Given the description of an element on the screen output the (x, y) to click on. 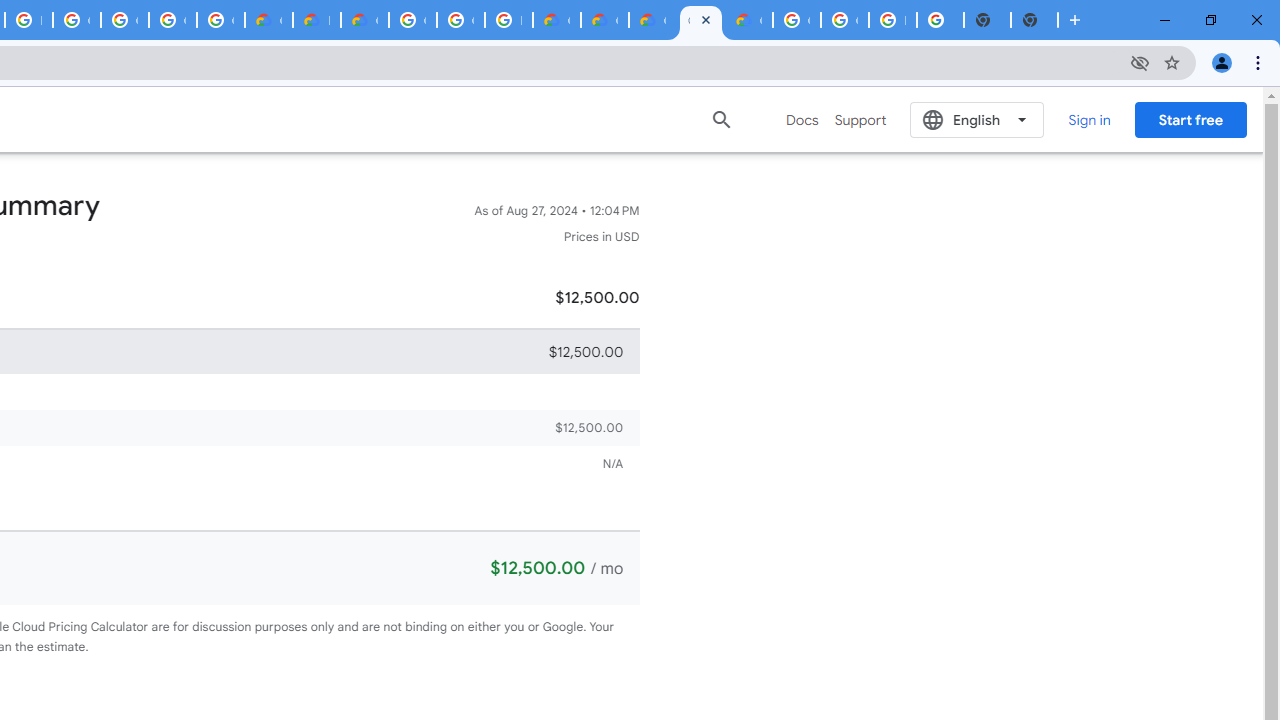
Google Workspace - Specific Terms (220, 20)
Google Cloud Platform (796, 20)
Customer Care | Google Cloud (556, 20)
